Given the description of an element on the screen output the (x, y) to click on. 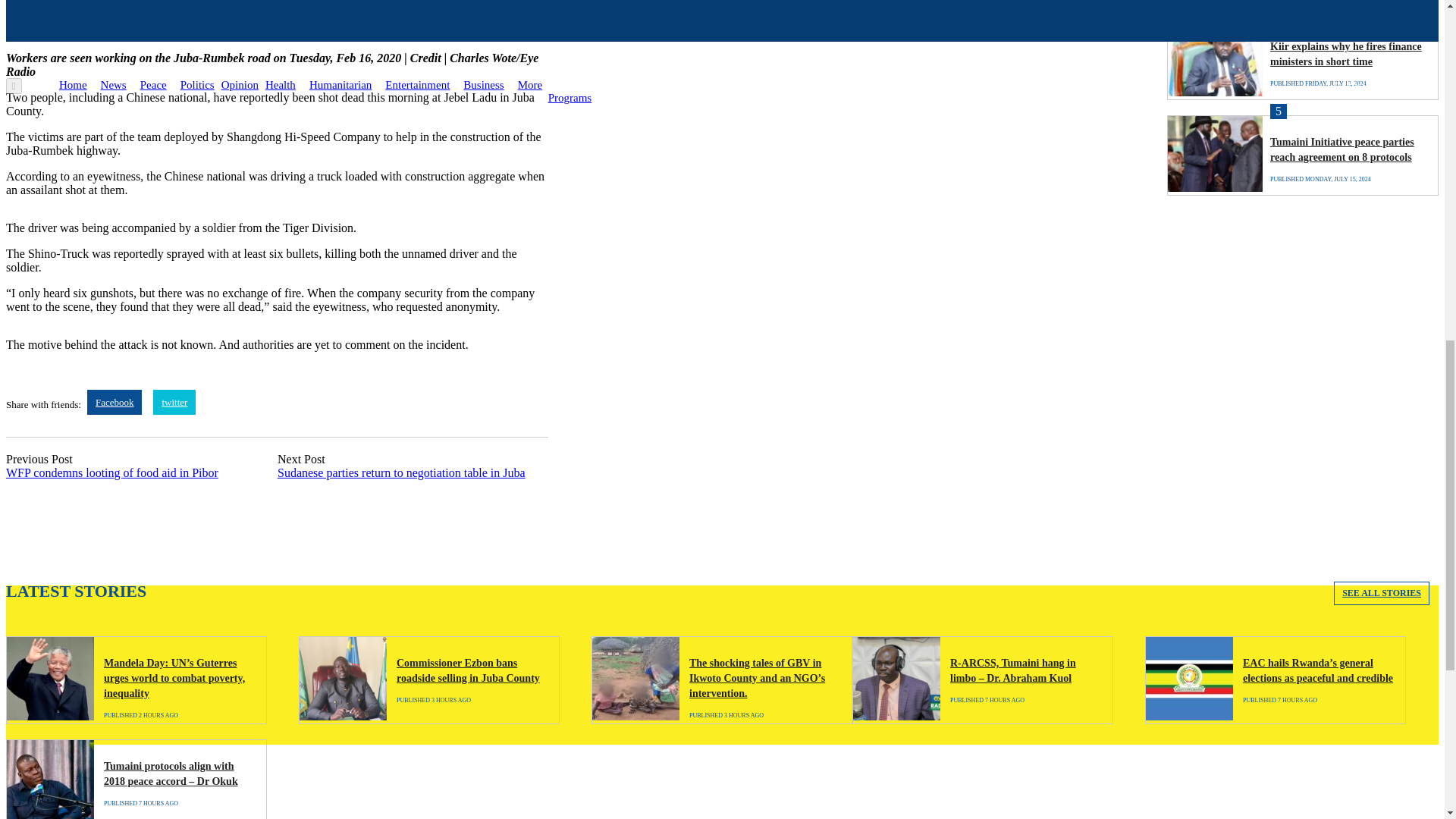
Facebook (114, 401)
twitter (173, 401)
Sudanese parties return to negotiation table in Juba (401, 472)
WFP condemns looting of food aid in Pibor (111, 472)
